Given the description of an element on the screen output the (x, y) to click on. 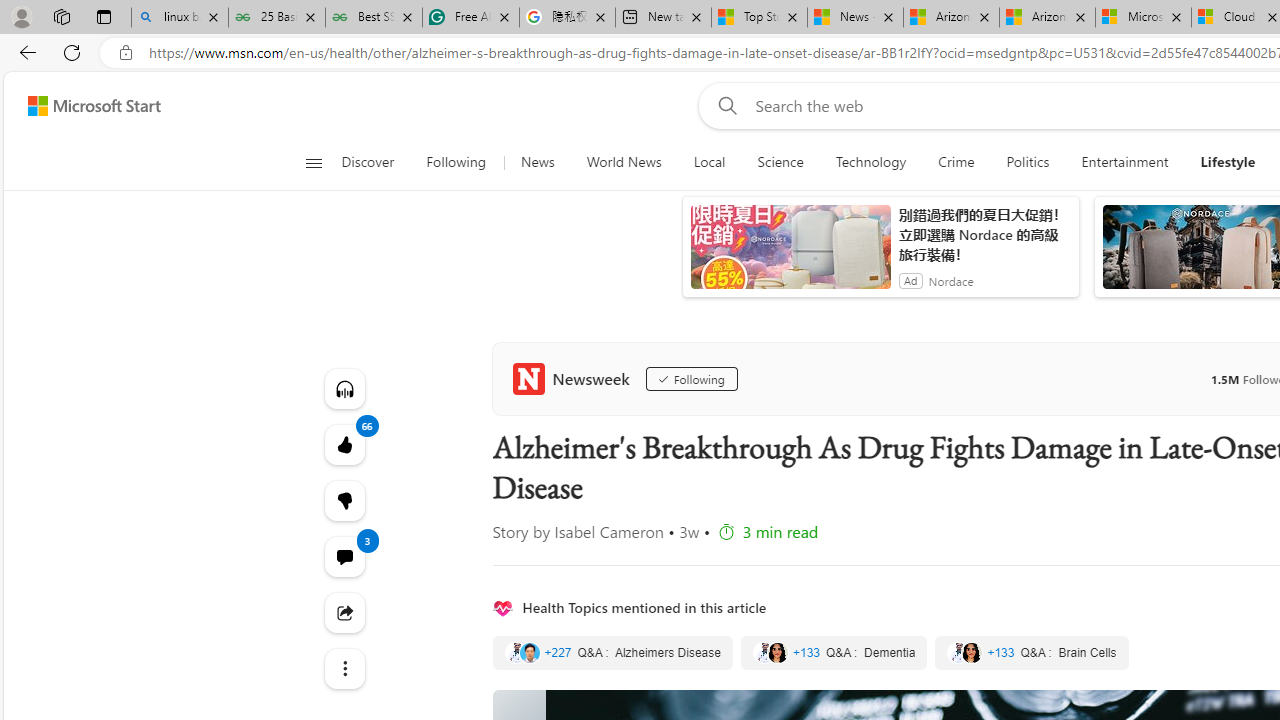
25 Basic Linux Commands For Beginners - GeeksforGeeks (277, 17)
Newsweek (574, 378)
News - MSN (854, 17)
Class: at-item (343, 668)
View comments 3 Comment (343, 556)
Alzheimers Disease (612, 652)
